Given the description of an element on the screen output the (x, y) to click on. 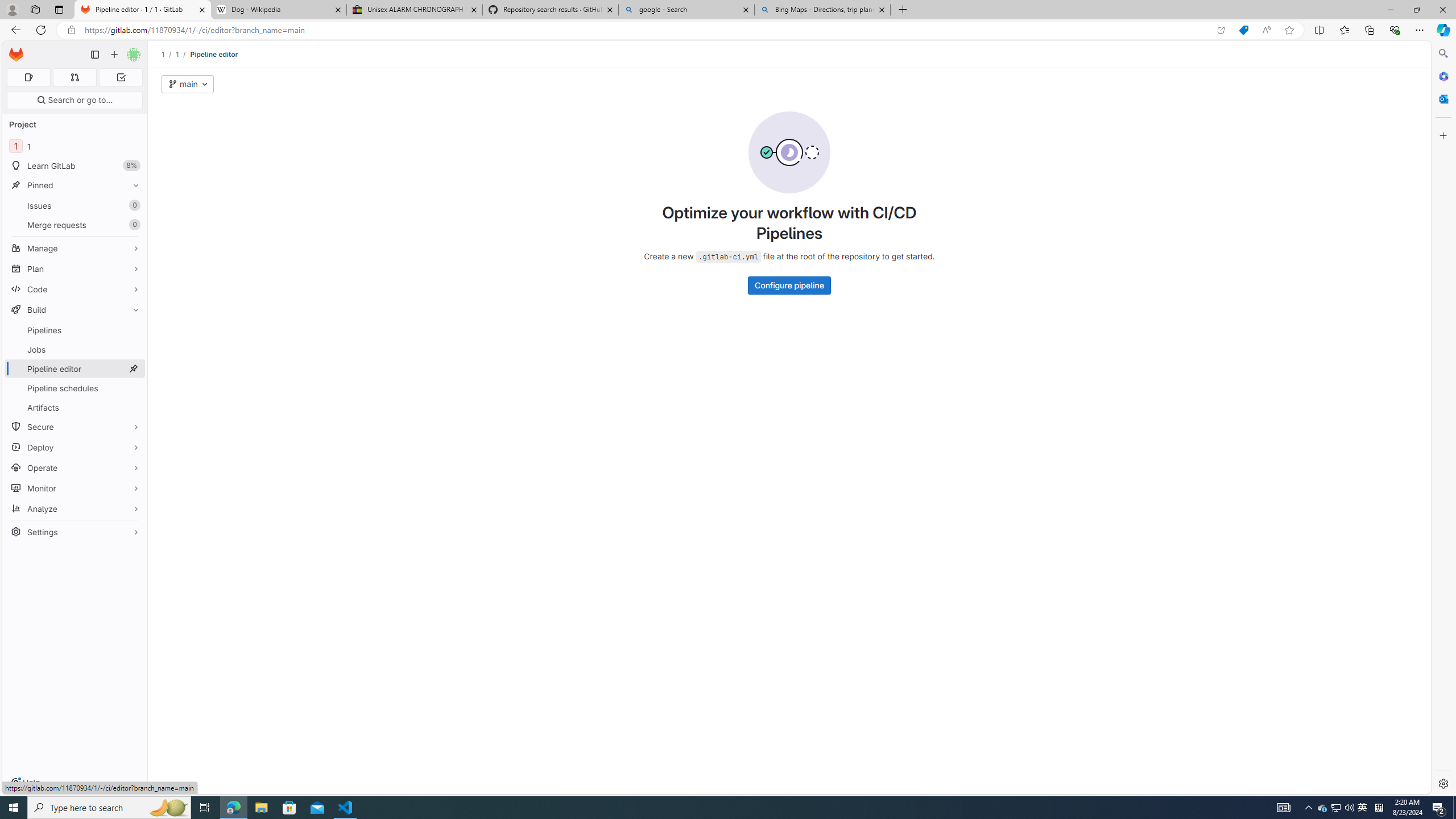
To-Do list 0 (120, 76)
Pinned (74, 185)
google - Search (685, 9)
Secure (74, 426)
Deploy (74, 447)
Pipeline schedules (74, 387)
Shopping in Microsoft Edge (1243, 29)
Build (74, 309)
Analyze (74, 508)
main (187, 84)
